Given the description of an element on the screen output the (x, y) to click on. 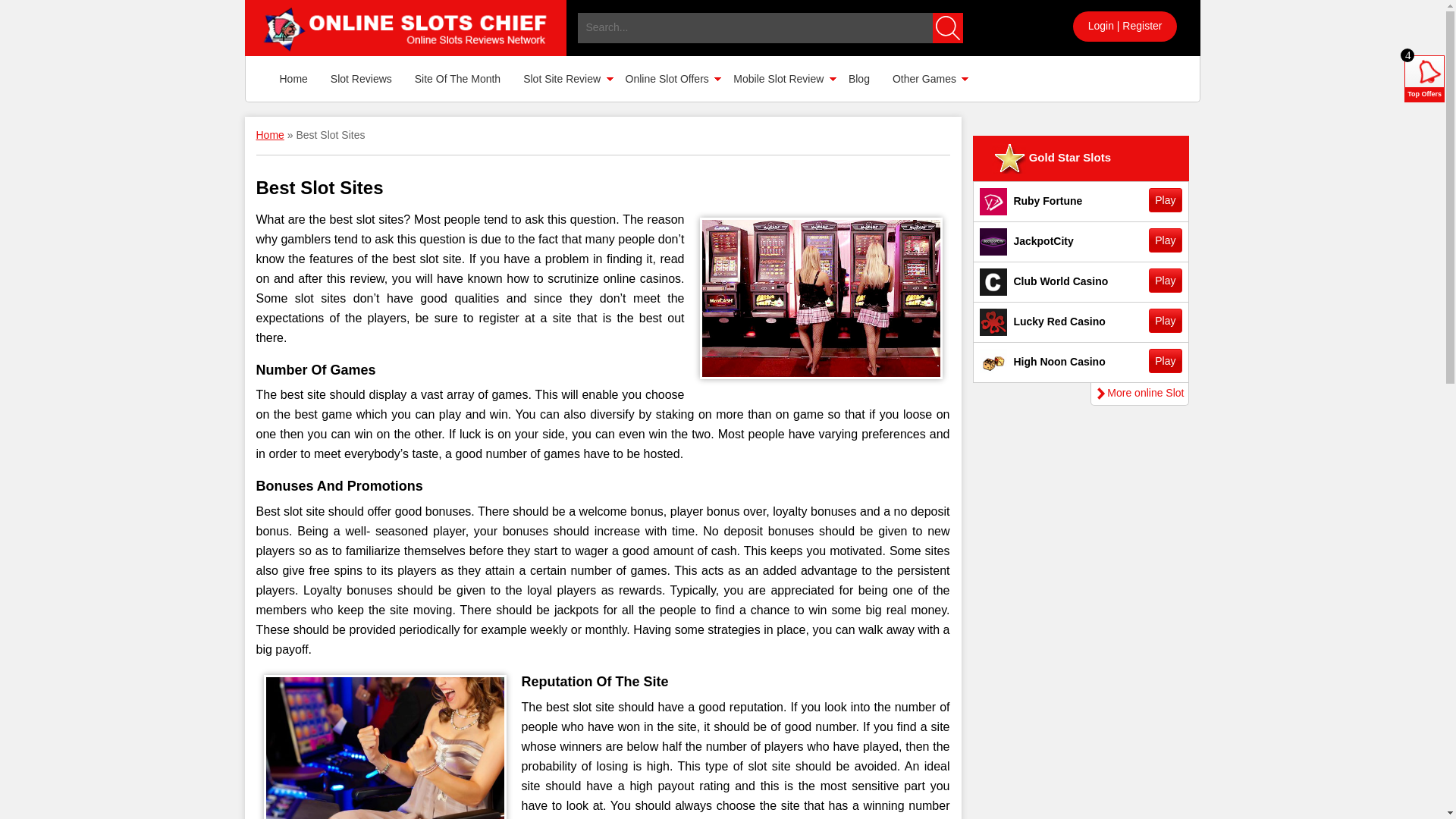
Home (292, 78)
Site Of The Month (457, 78)
Online Slot Offers (668, 78)
Slot Reviews (360, 78)
Mobile Slot Review (779, 78)
Slot Site Review (562, 78)
